Given the description of an element on the screen output the (x, y) to click on. 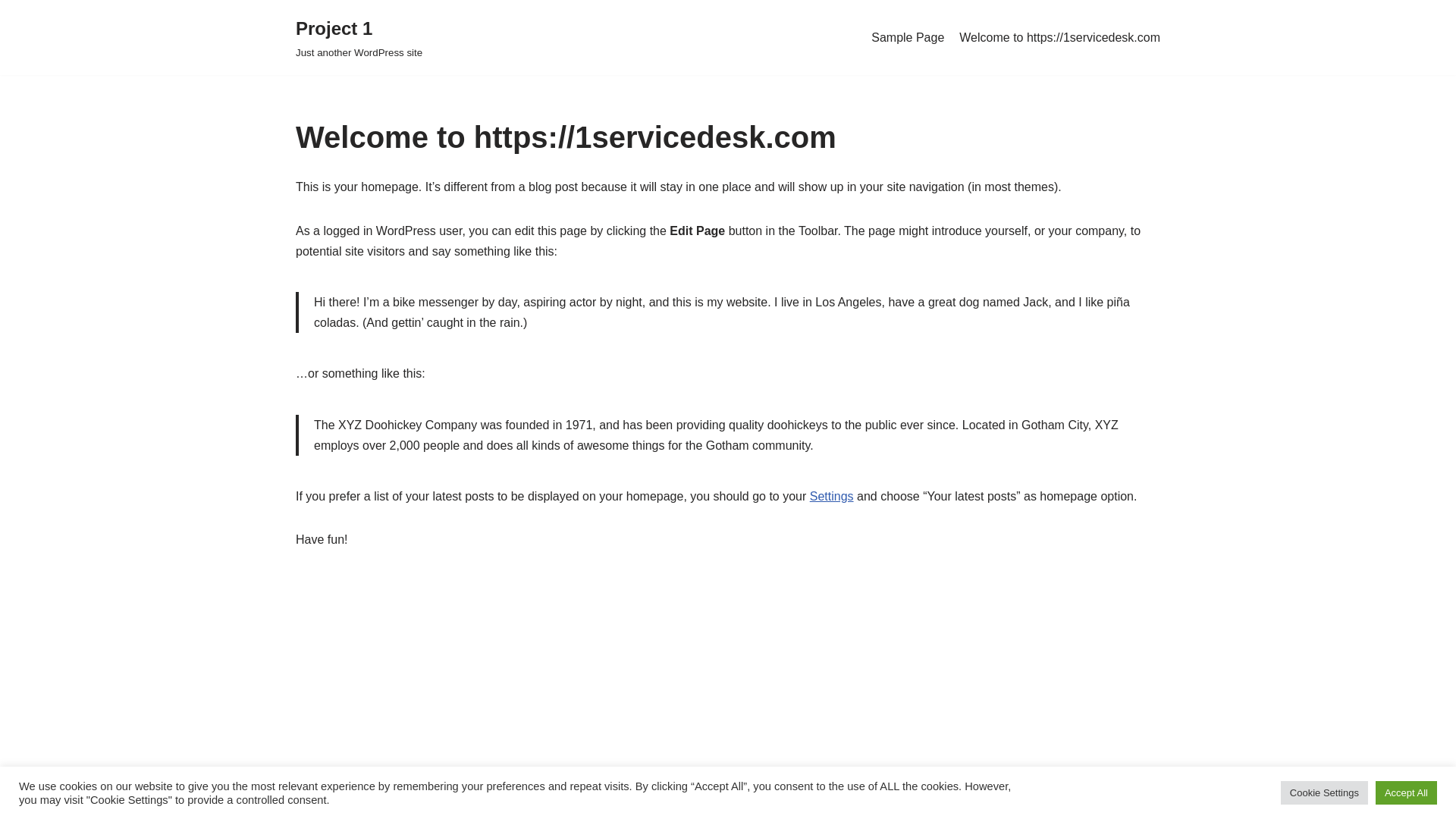
Cookie Settings Element type: text (1324, 792)
Welcome to https://1servicedesk.com Element type: text (1059, 37)
WordPress Element type: text (431, 799)
Neve Element type: text (309, 799)
Sample Page Element type: text (907, 37)
Accept All Element type: text (1406, 792)
Skip to content Element type: text (11, 31)
Project 1
Just another WordPress site Element type: text (358, 37)
Settings Element type: text (831, 495)
